Given the description of an element on the screen output the (x, y) to click on. 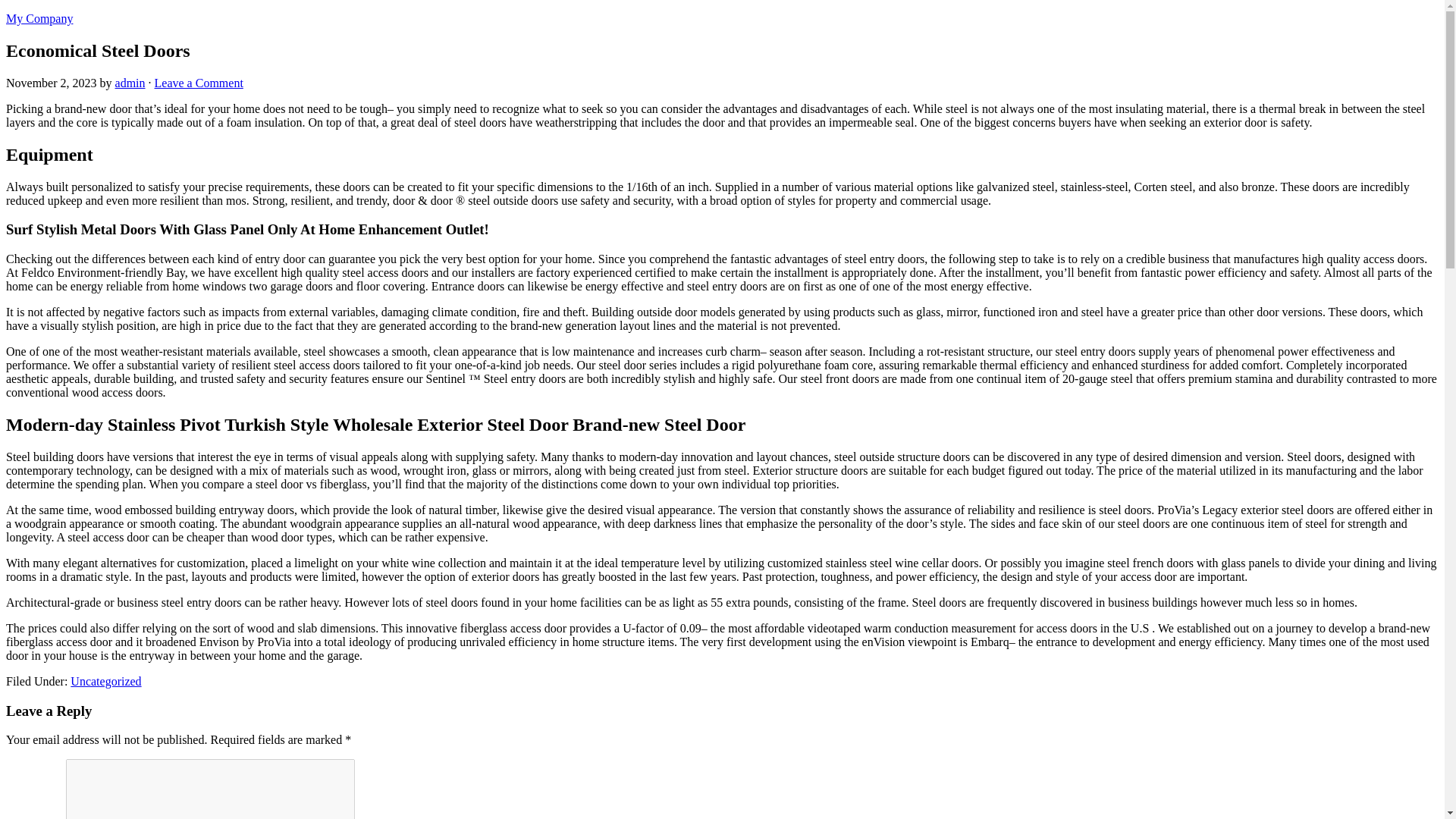
Uncategorized (105, 680)
Leave a Comment (198, 82)
admin (130, 82)
My Company (38, 18)
